Given the description of an element on the screen output the (x, y) to click on. 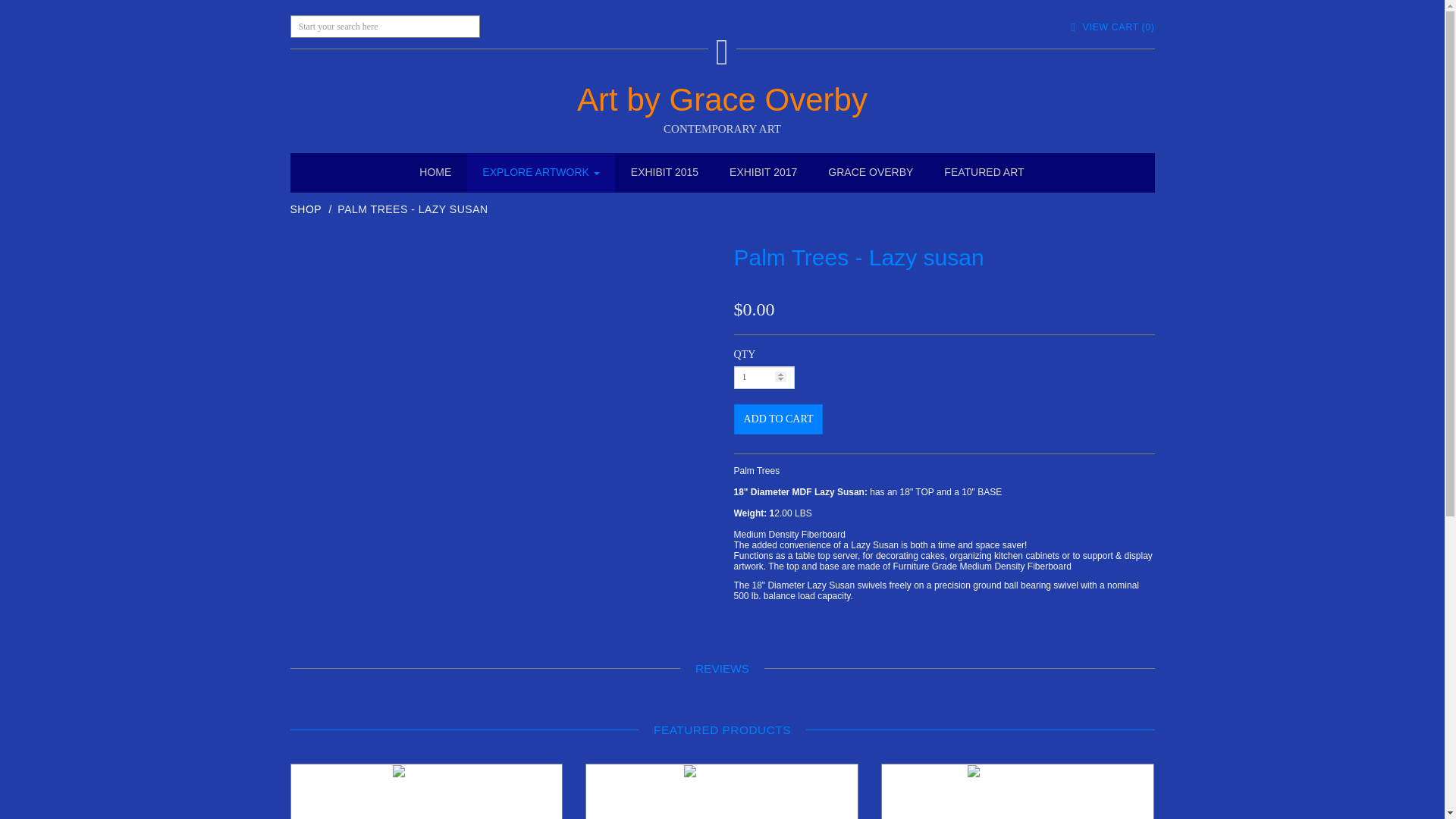
Add to Cart (778, 419)
Art by Grace Overby (721, 100)
FEATURED ART (983, 172)
HOME (434, 172)
Add to Cart (778, 419)
EXPLORE ARTWORK (540, 172)
SHOP (305, 209)
1 (763, 377)
GRACE OVERBY (870, 172)
EXHIBIT 2015 (664, 172)
